Given the description of an element on the screen output the (x, y) to click on. 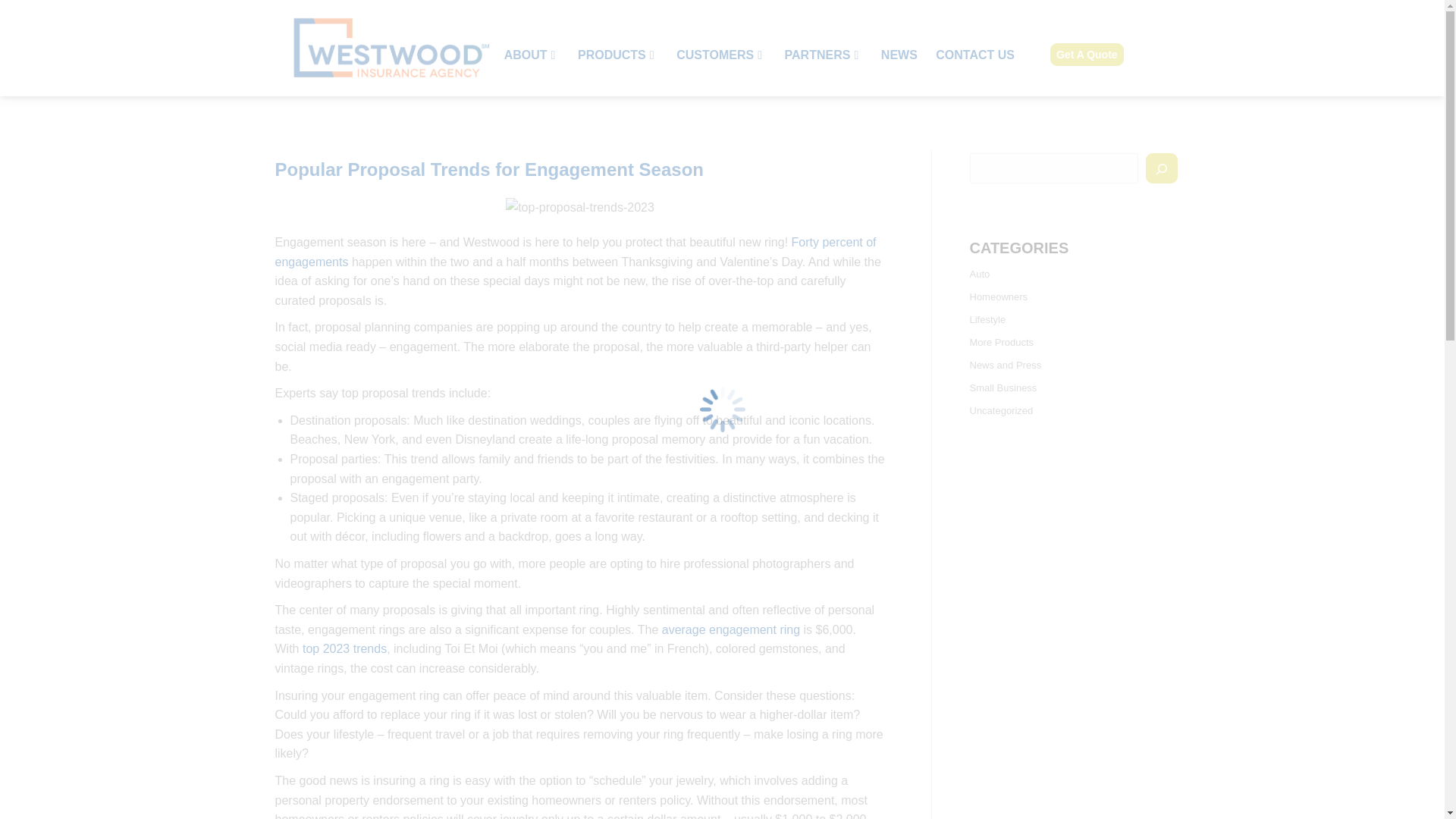
ABOUT (531, 55)
CUSTOMERS (721, 55)
proposaltrends (579, 207)
PRODUCTS (618, 55)
